Given the description of an element on the screen output the (x, y) to click on. 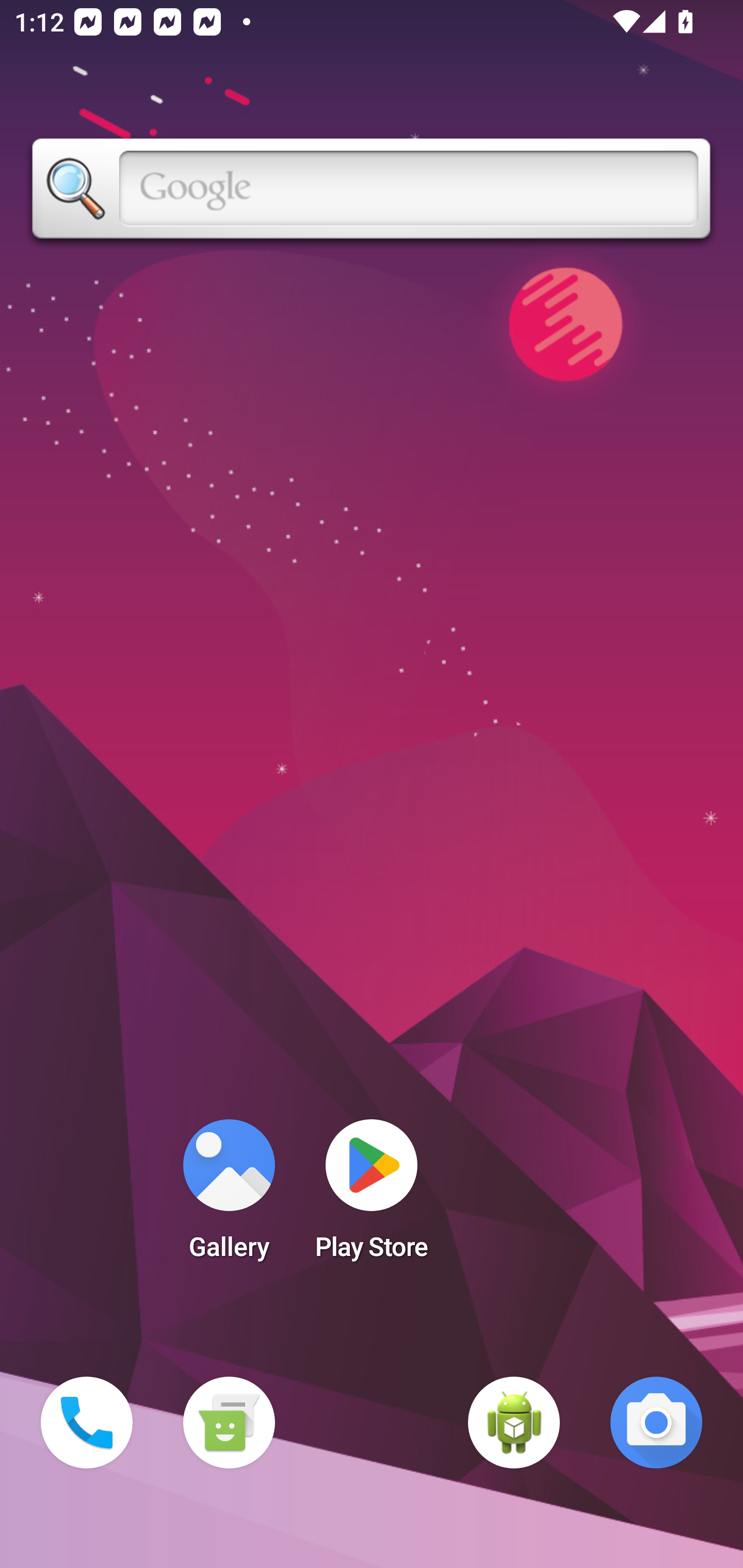
Gallery (228, 1195)
Play Store (371, 1195)
Phone (86, 1422)
Messaging (228, 1422)
WebView Browser Tester (513, 1422)
Camera (656, 1422)
